Given the description of an element on the screen output the (x, y) to click on. 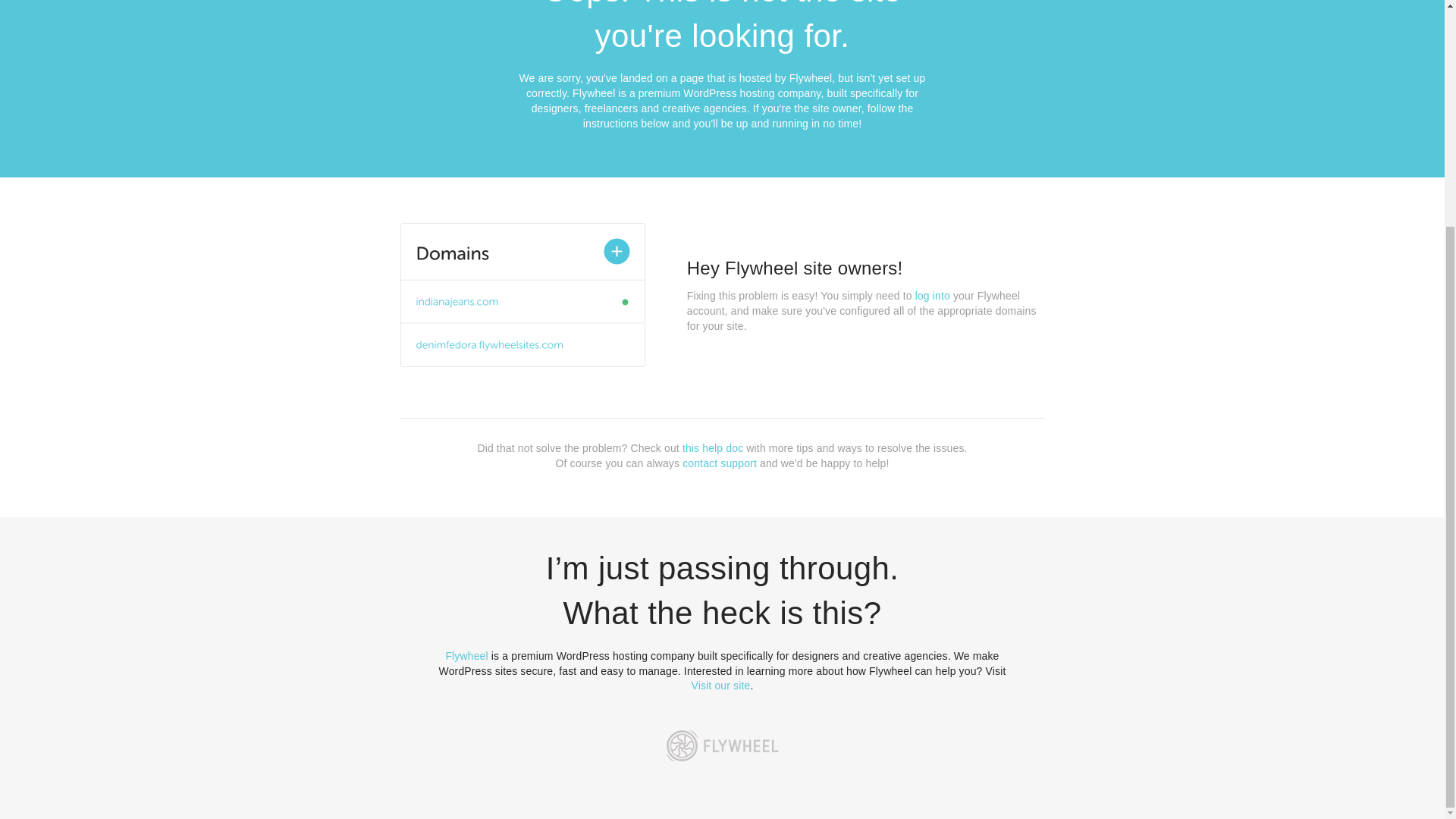
contact support (719, 463)
this help doc (712, 448)
Flywheel (466, 655)
log into (932, 295)
Visit our site (721, 685)
